Given the description of an element on the screen output the (x, y) to click on. 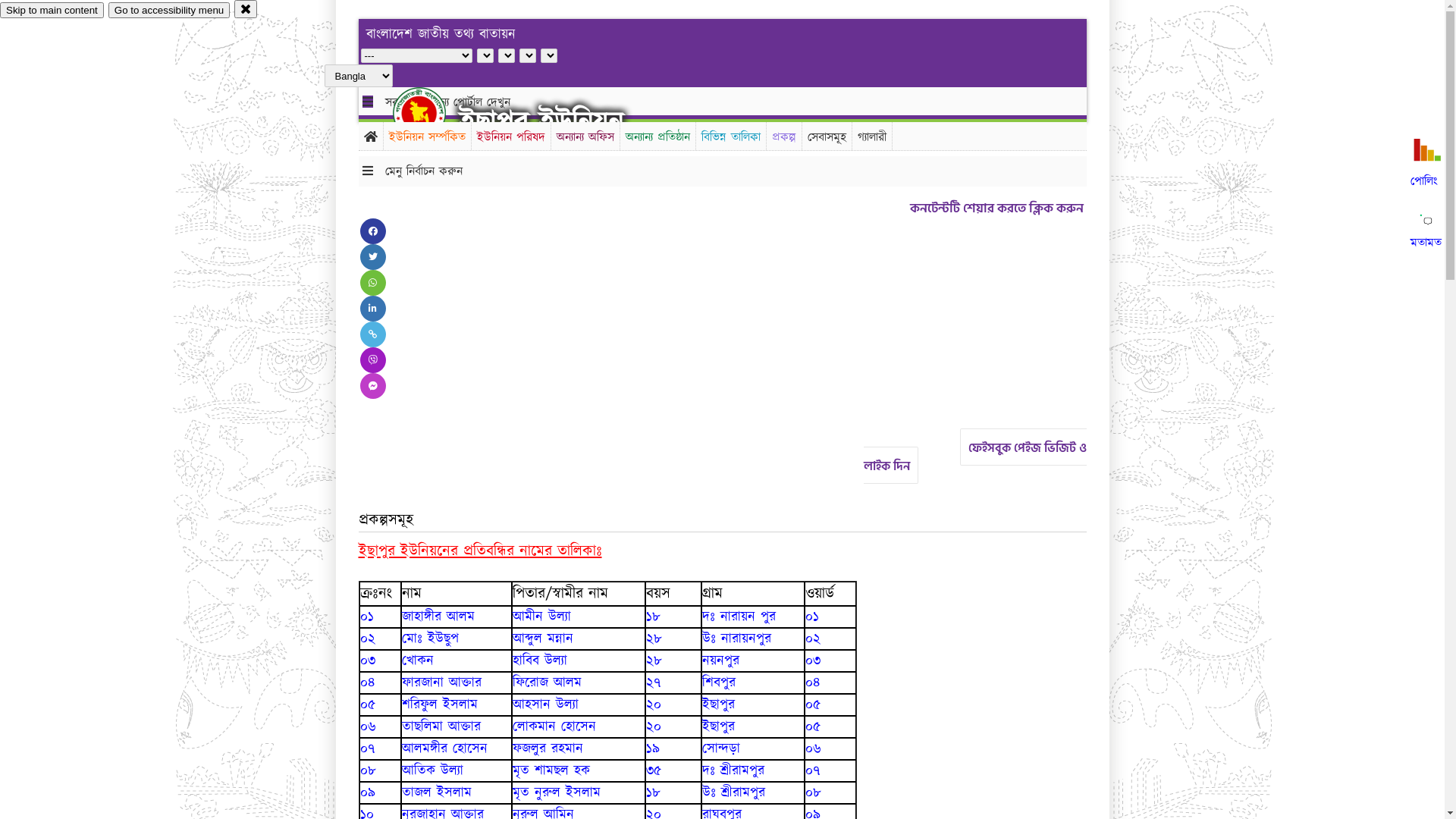
Skip to main content Element type: text (51, 10)
close Element type: hover (245, 9)

                
             Element type: hover (431, 112)
Go to accessibility menu Element type: text (168, 10)
